Given the description of an element on the screen output the (x, y) to click on. 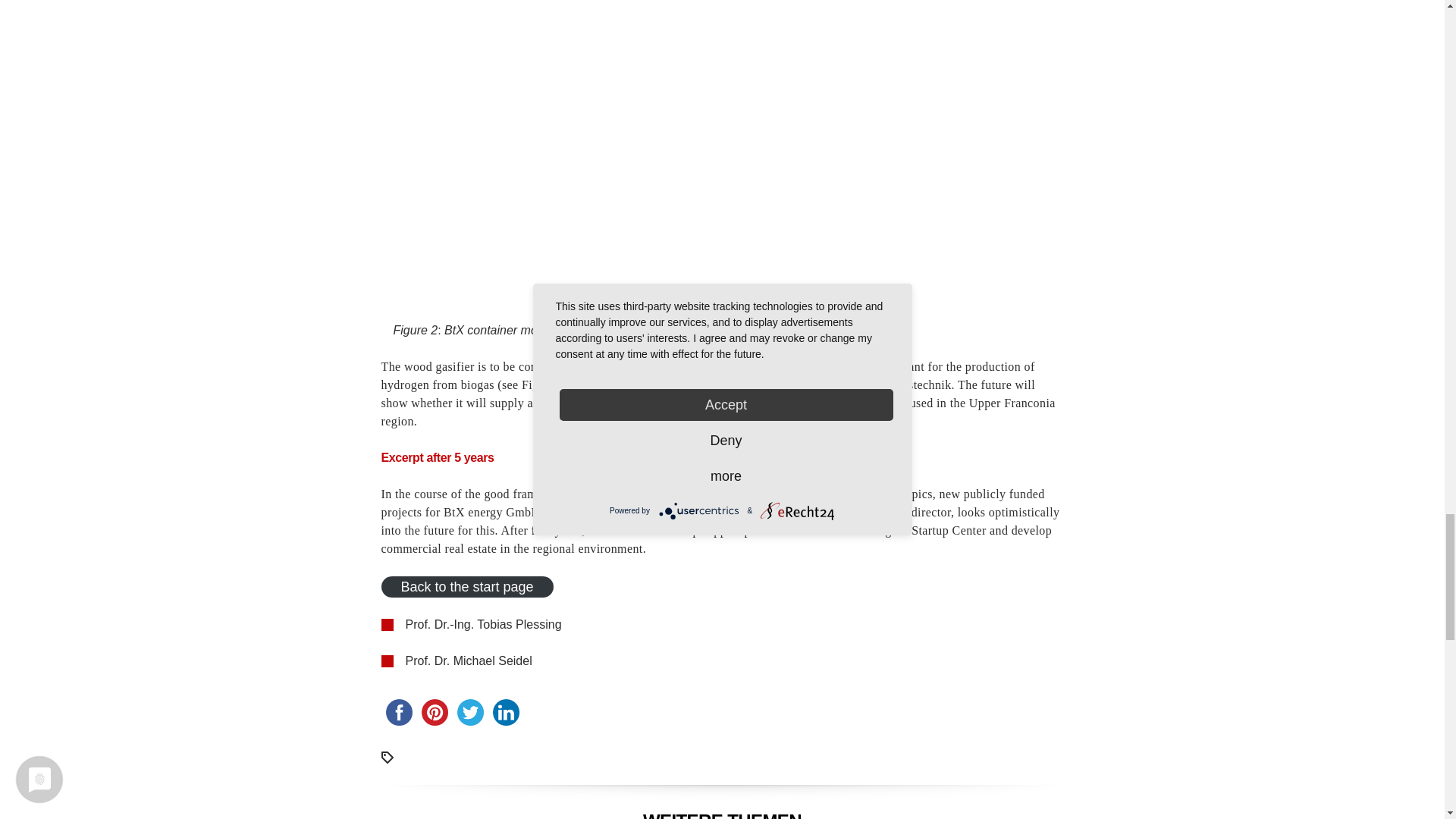
Back to the start page (466, 586)
pinterest (434, 712)
twitter (469, 712)
linkedin (505, 712)
facebook (398, 712)
